Given the description of an element on the screen output the (x, y) to click on. 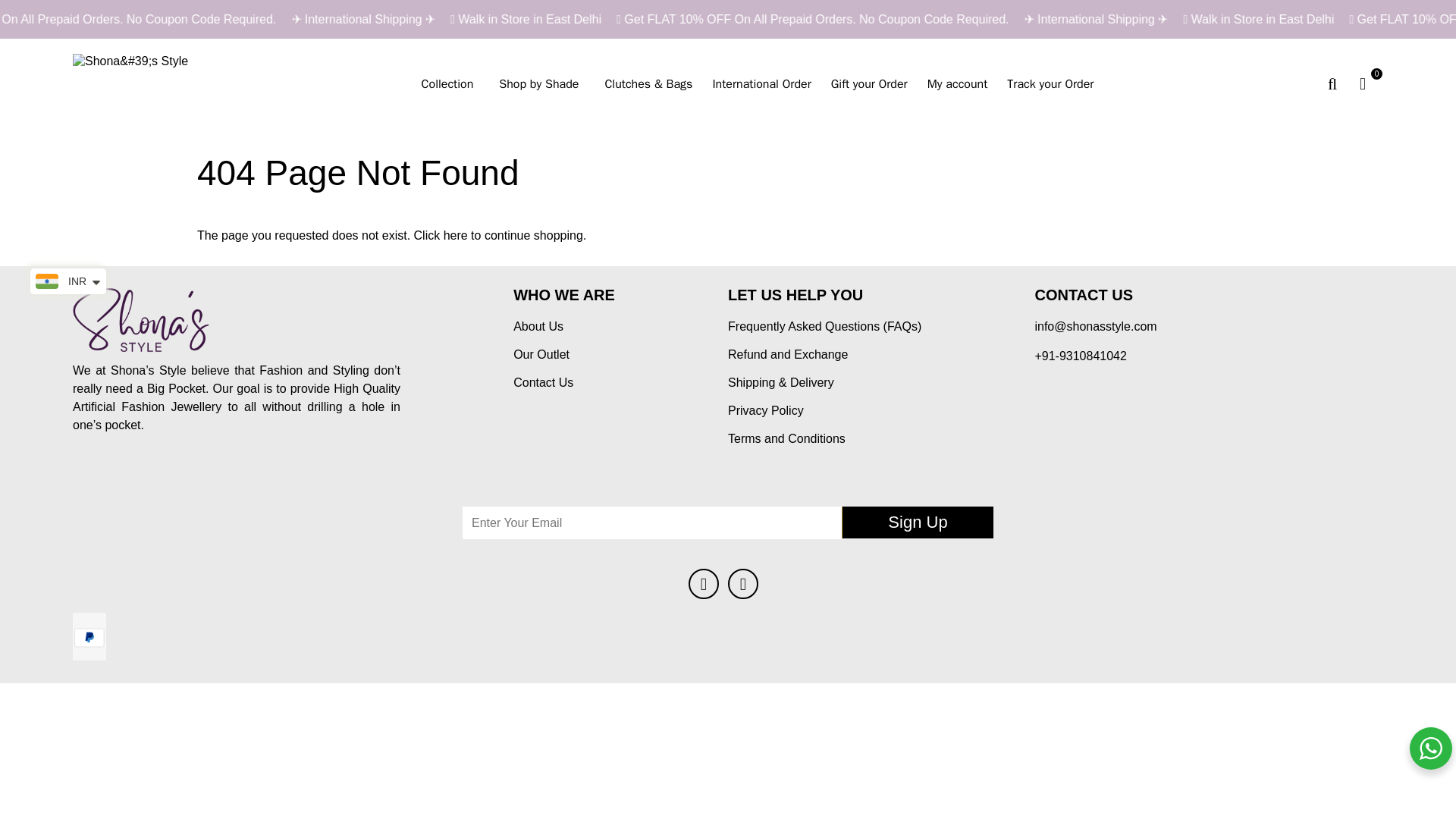
PayPal (89, 637)
Collection (451, 84)
Shona's Style (132, 82)
Shop by Shade (542, 84)
